Given the description of an element on the screen output the (x, y) to click on. 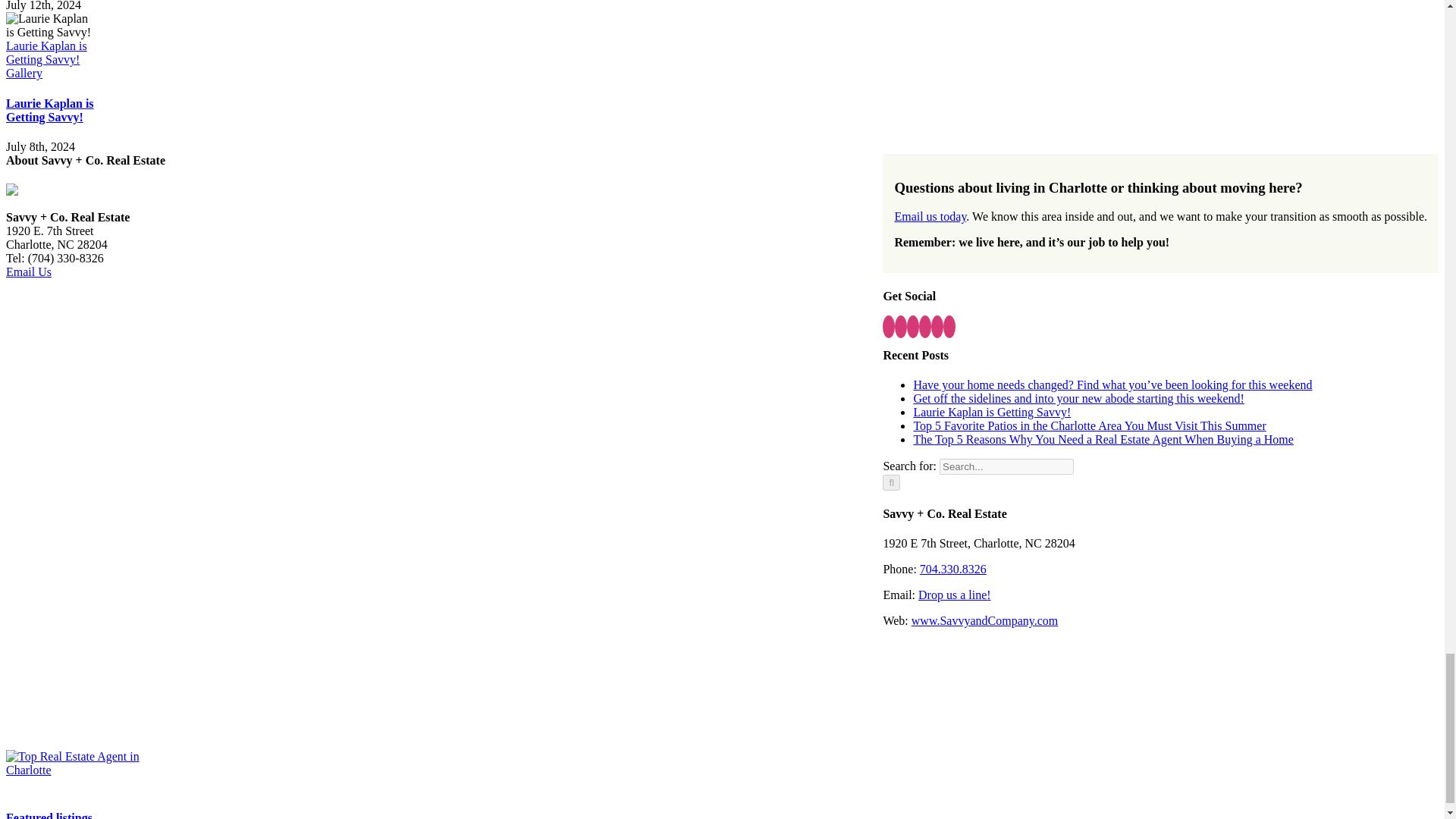
Laurie Kaplan is Getting Savvy! (49, 110)
